Given the description of an element on the screen output the (x, y) to click on. 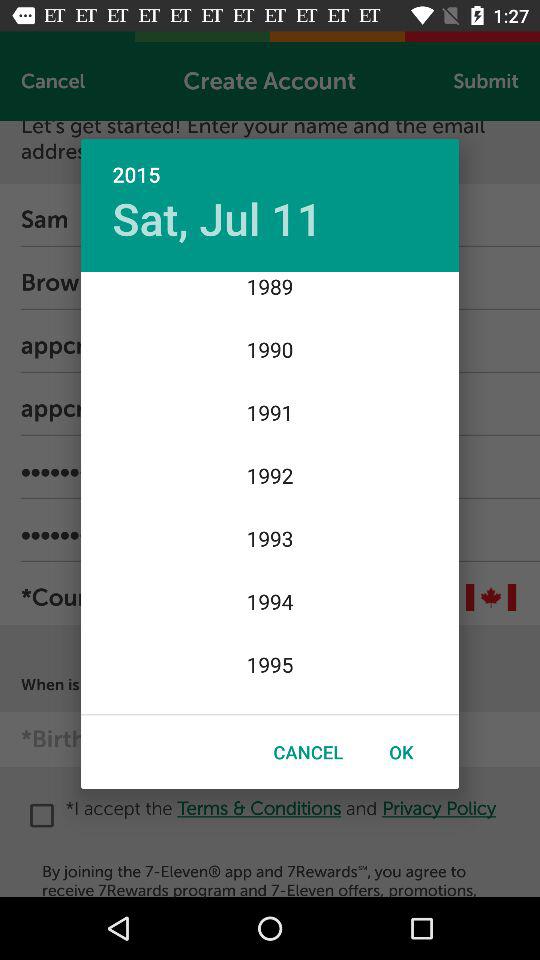
choose the sat, jul 11 icon (217, 218)
